Given the description of an element on the screen output the (x, y) to click on. 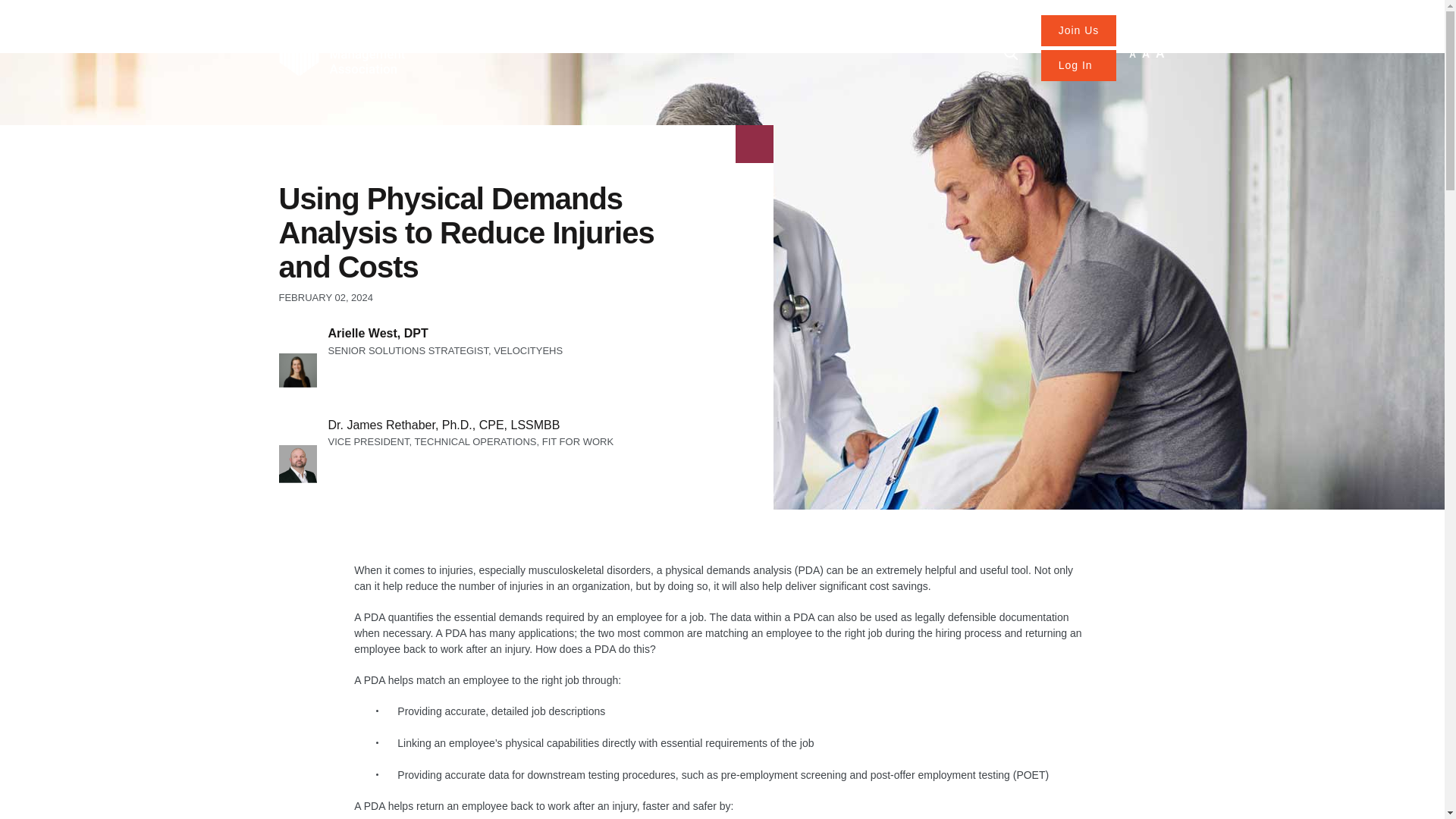
About (967, 45)
Education (705, 45)
Membership (551, 45)
Annual Conference (802, 45)
Public Risk Management Association (341, 53)
Education (705, 45)
Join Us (1078, 30)
Public Risk Management Association (341, 53)
Log In (1078, 65)
Resources (631, 45)
